Given the description of an element on the screen output the (x, y) to click on. 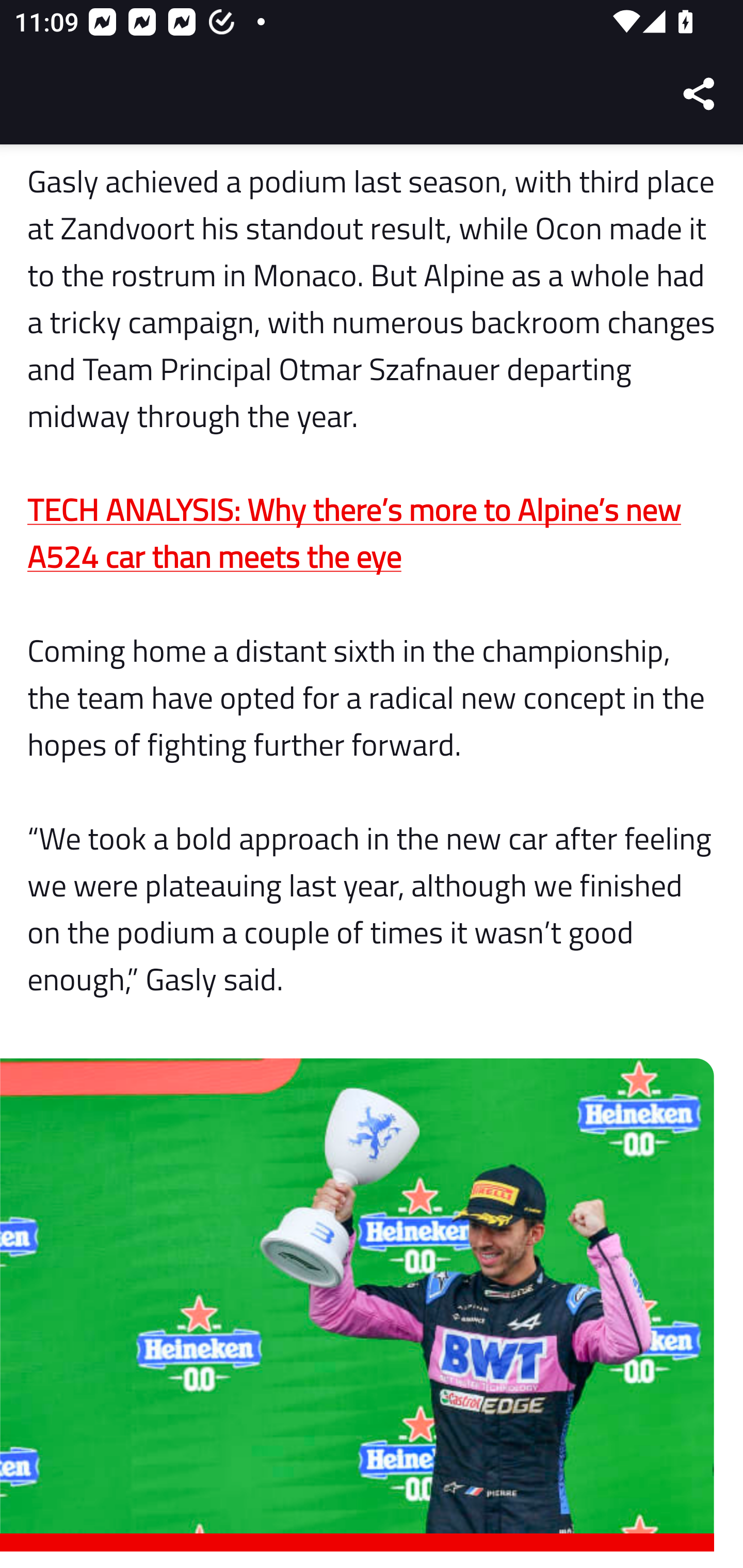
Share (699, 93)
